Given the description of an element on the screen output the (x, y) to click on. 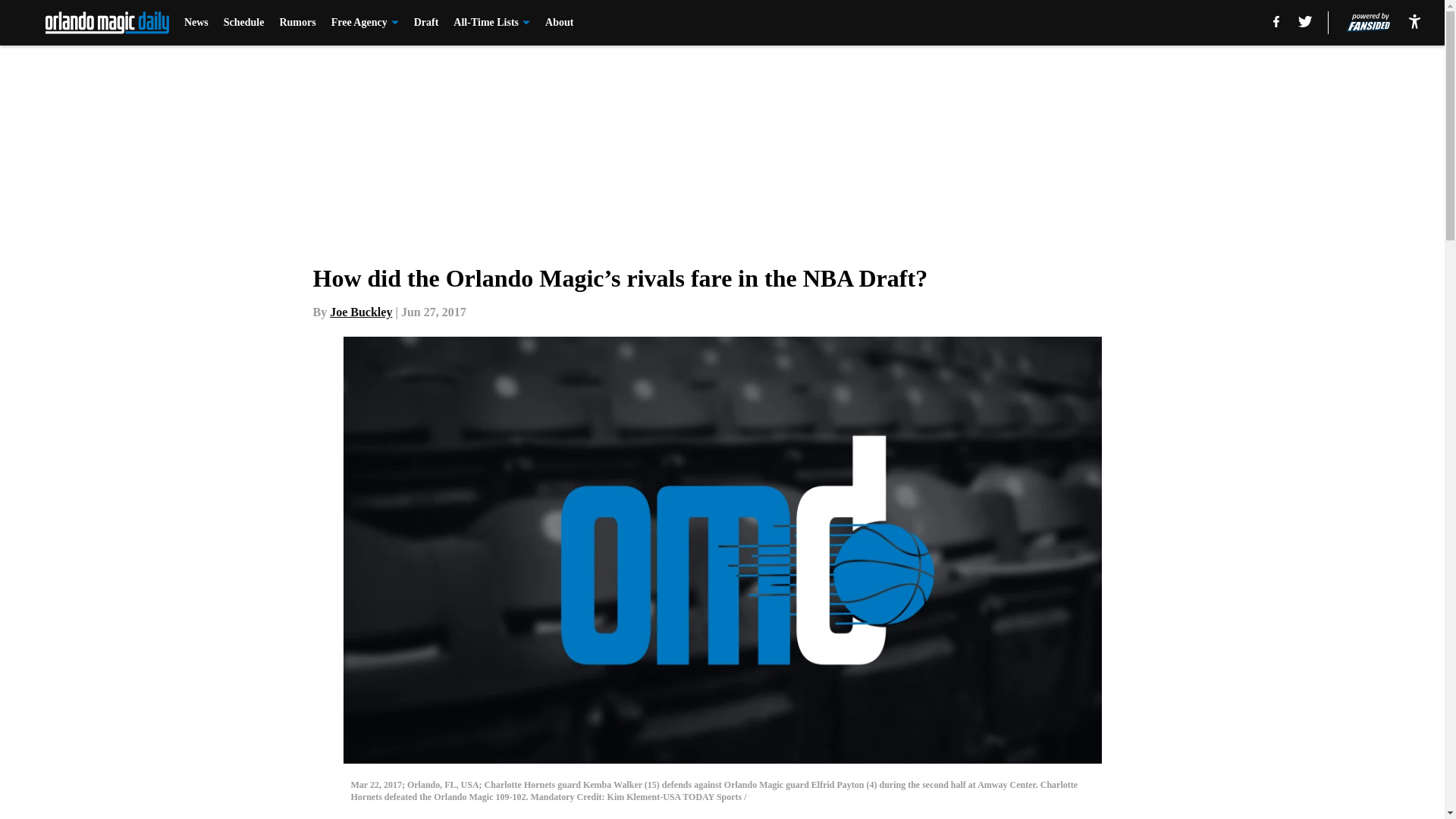
Rumors (297, 22)
Schedule (244, 22)
About (558, 22)
Joe Buckley (360, 311)
Draft (426, 22)
News (196, 22)
Free Agency (364, 22)
All-Time Lists (490, 22)
